Given the description of an element on the screen output the (x, y) to click on. 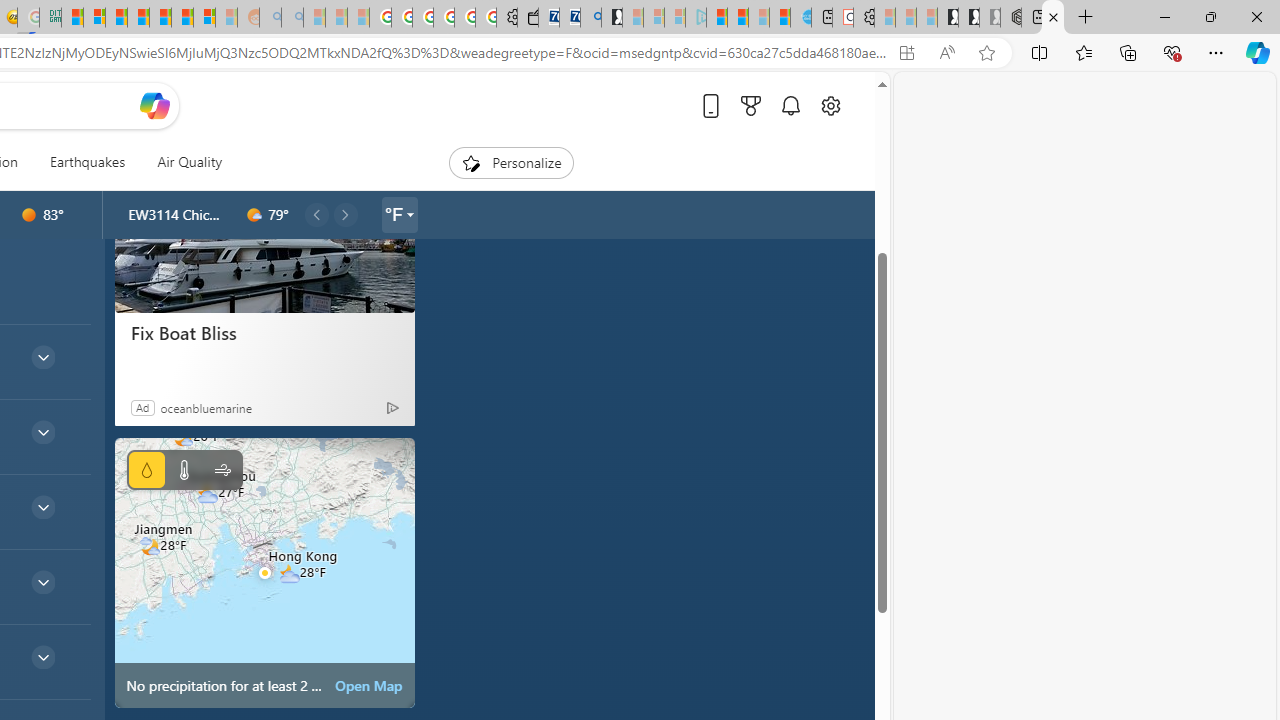
common/carouselChevron (345, 214)
Aberdeen, Hong Kong SAR hourly forecast | Microsoft Weather (1053, 17)
Precipitation (146, 470)
No precipitation for at least 2 hours (263, 572)
Earthquakes (87, 162)
